Given the description of an element on the screen output the (x, y) to click on. 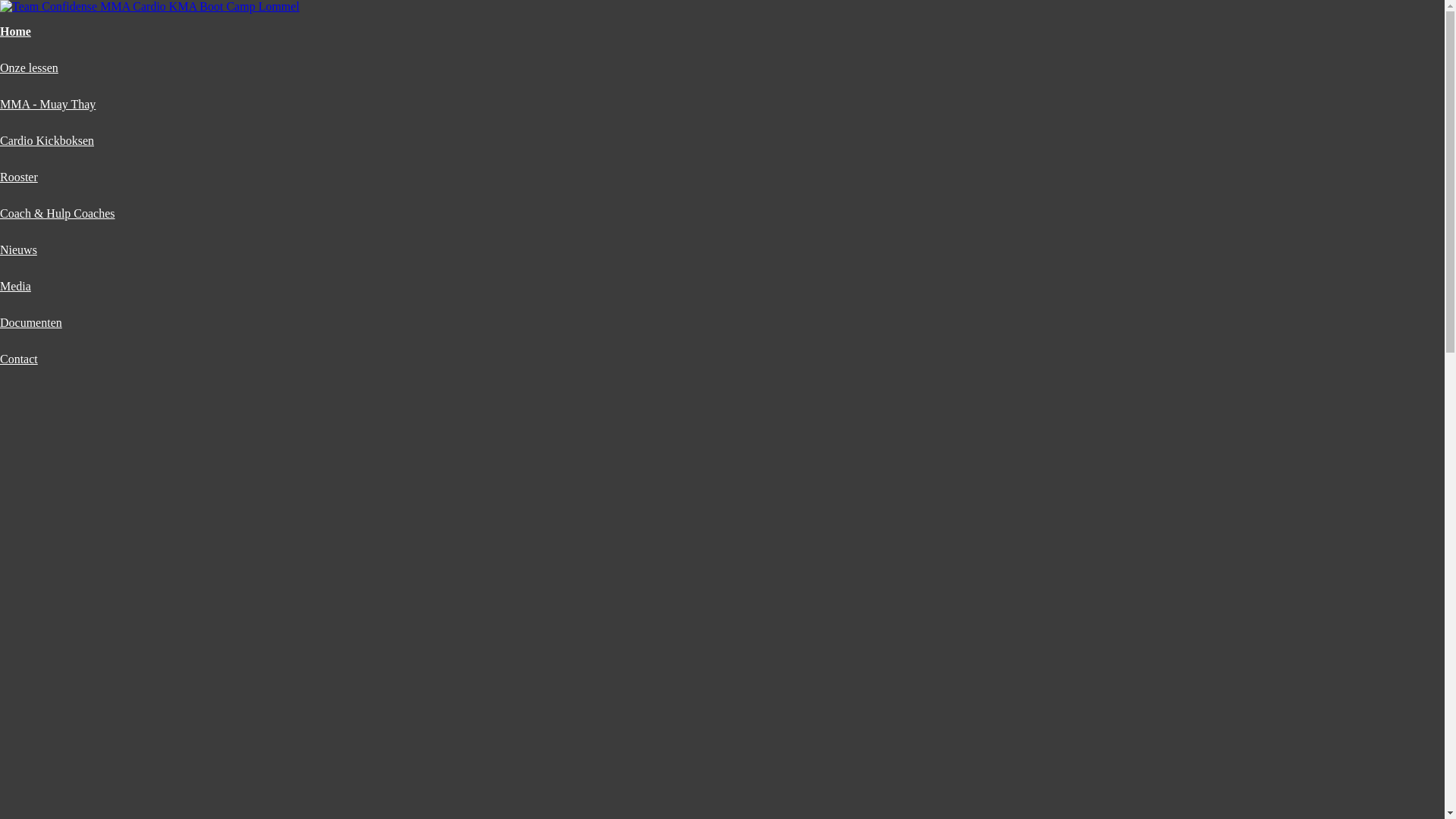
Documenten Element type: text (31, 322)
Home Element type: text (15, 31)
Rooster Element type: text (18, 176)
Nieuws Element type: text (18, 249)
MMA - Muay Thay Element type: text (47, 103)
Onze lessen Element type: text (29, 67)
Media Element type: text (15, 285)
Contact Element type: text (18, 358)
Coach & Hulp Coaches Element type: text (57, 213)
Cardio Kickboksen Element type: text (47, 140)
